Given the description of an element on the screen output the (x, y) to click on. 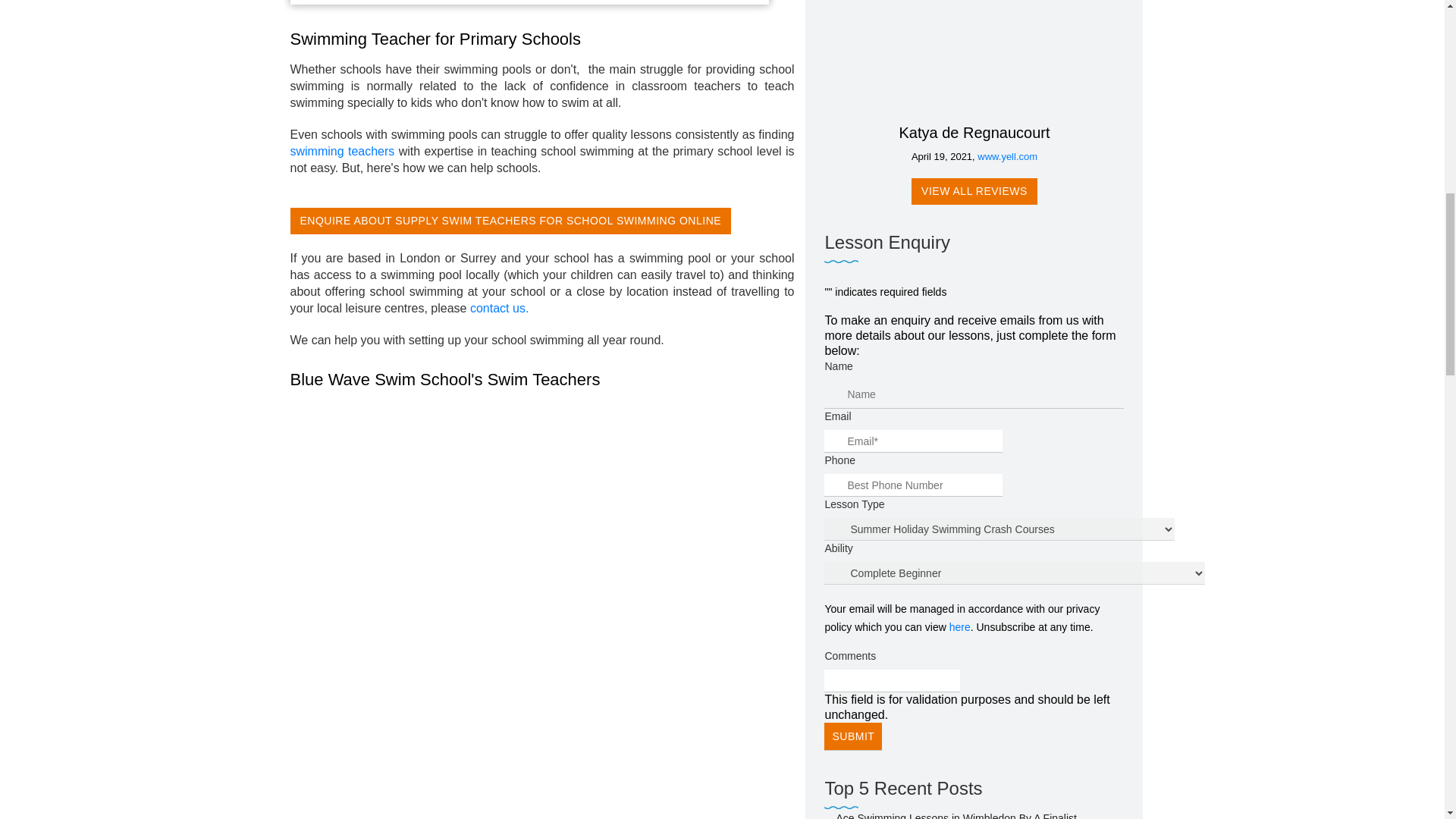
Submit (853, 736)
